Given the description of an element on the screen output the (x, y) to click on. 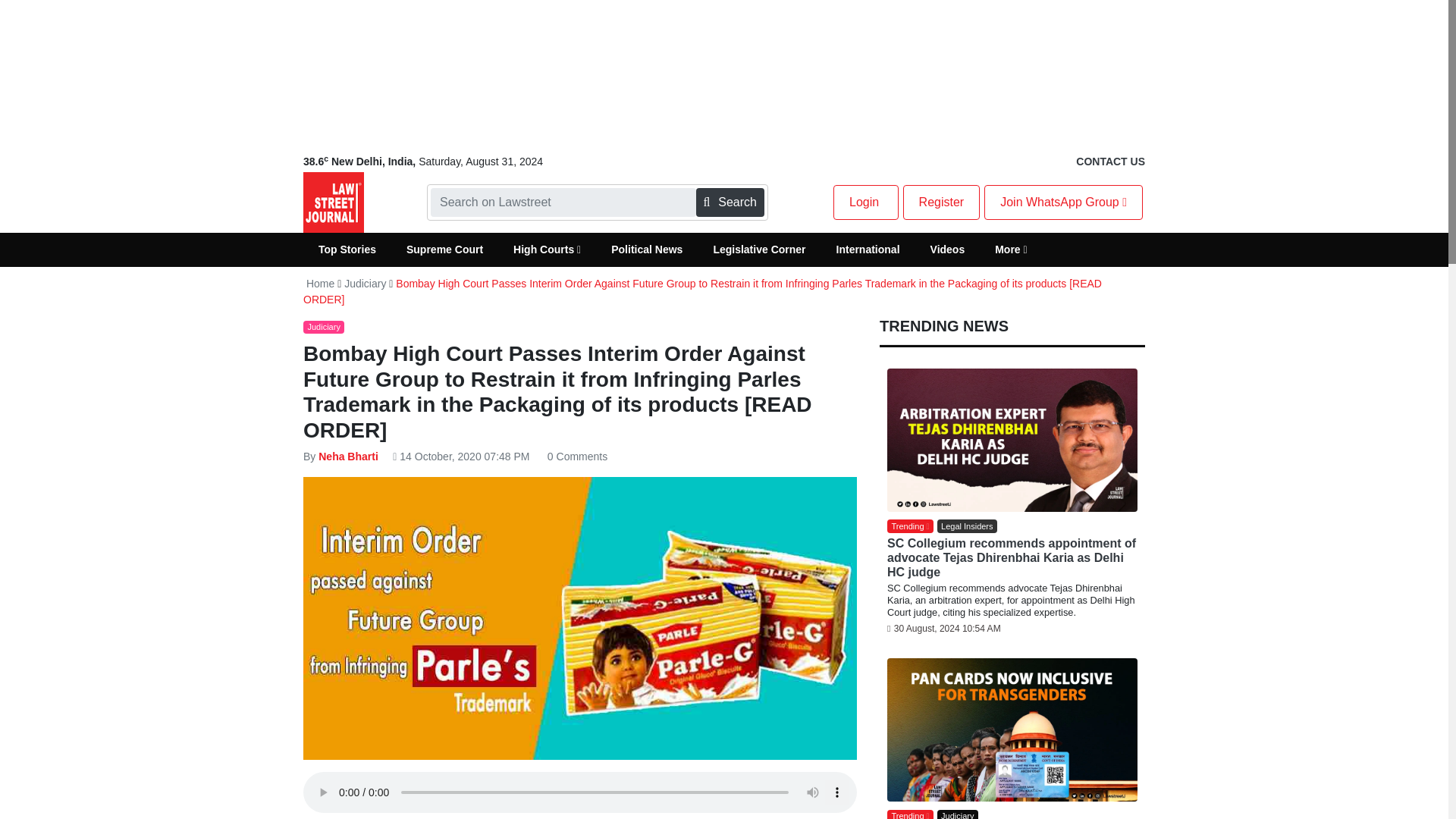
Political News (646, 249)
Legislative Corner (759, 249)
High Courts (546, 249)
Supreme Court (444, 249)
Join WhatsApp Group (1063, 202)
Register (940, 202)
Videos (947, 249)
International (868, 249)
Login (865, 202)
LawStreet Journal (333, 201)
